Given the description of an element on the screen output the (x, y) to click on. 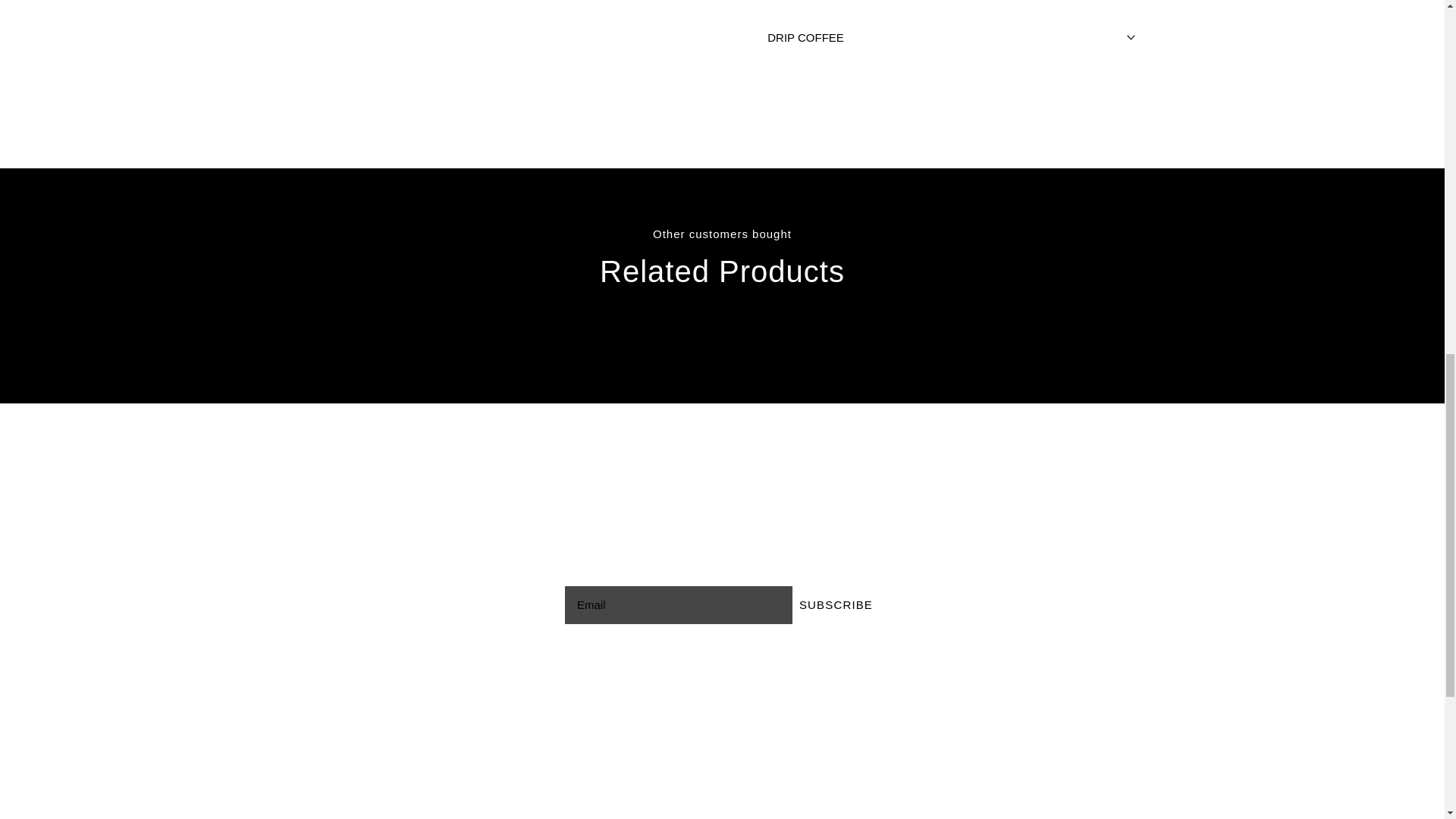
Seminar (887, 759)
ESPRESSO BREWING WITH 21G (951, 6)
Coffee (882, 744)
Equipment (893, 775)
